Given the description of an element on the screen output the (x, y) to click on. 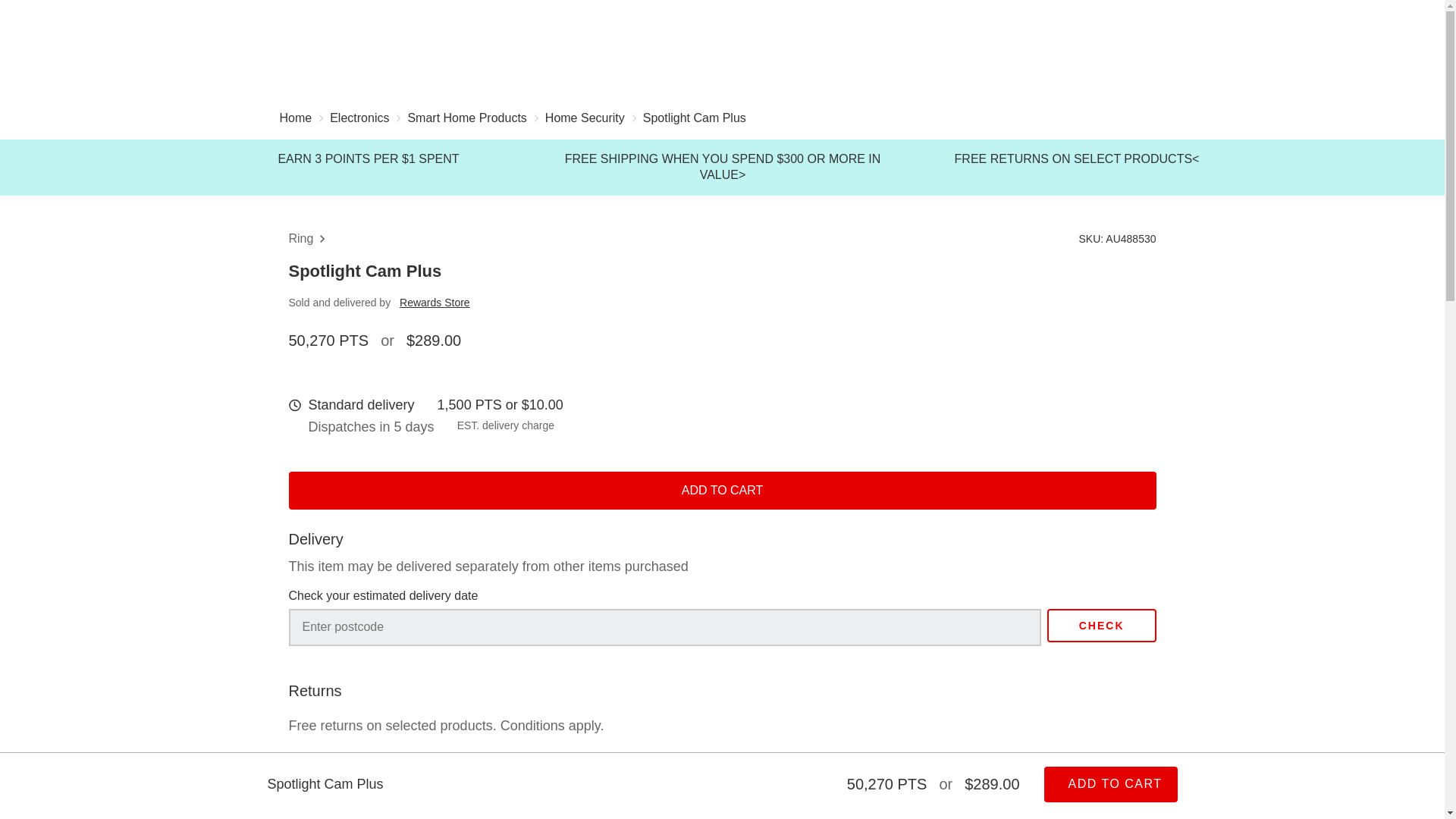
Electronics (359, 120)
Delivery (343, 793)
Spotlight Cam Plus (694, 120)
Smart Home Products (466, 120)
Rewards Store (434, 302)
Ring (309, 239)
ADD TO CART (1109, 784)
Home (295, 120)
Home Security (584, 120)
CHECK (1101, 625)
